Given the description of an element on the screen output the (x, y) to click on. 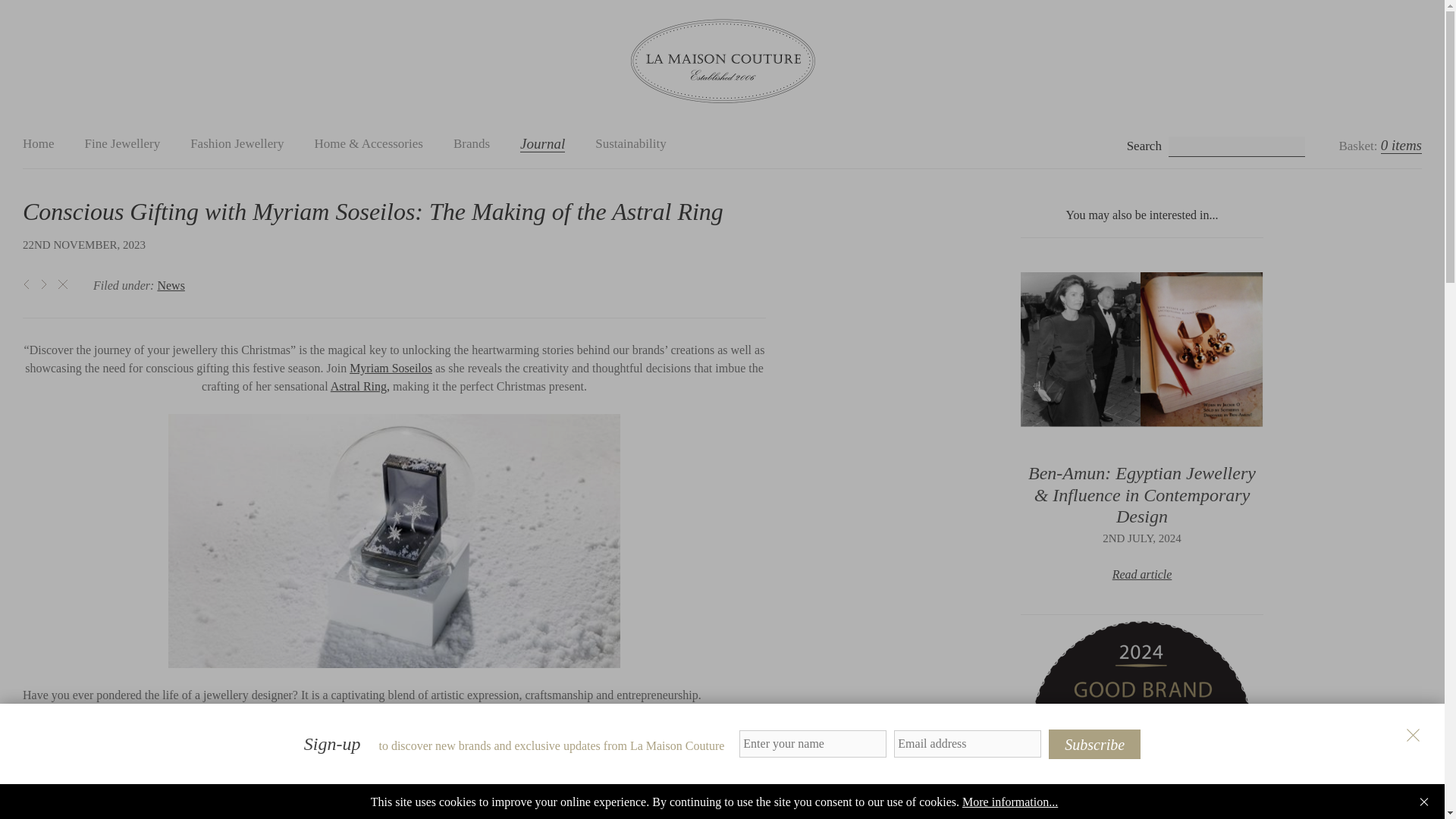
Home (39, 143)
Subscribe (1094, 744)
Fashion Jewellery (236, 143)
Astral Ring, (360, 386)
Read article (1142, 574)
Brands (470, 143)
0 items (1401, 145)
Myriam Soseilos (390, 367)
Fine Jewellery (122, 143)
Subscribe (1094, 744)
News (170, 285)
Sustainability (630, 143)
Journal (541, 143)
